Given the description of an element on the screen output the (x, y) to click on. 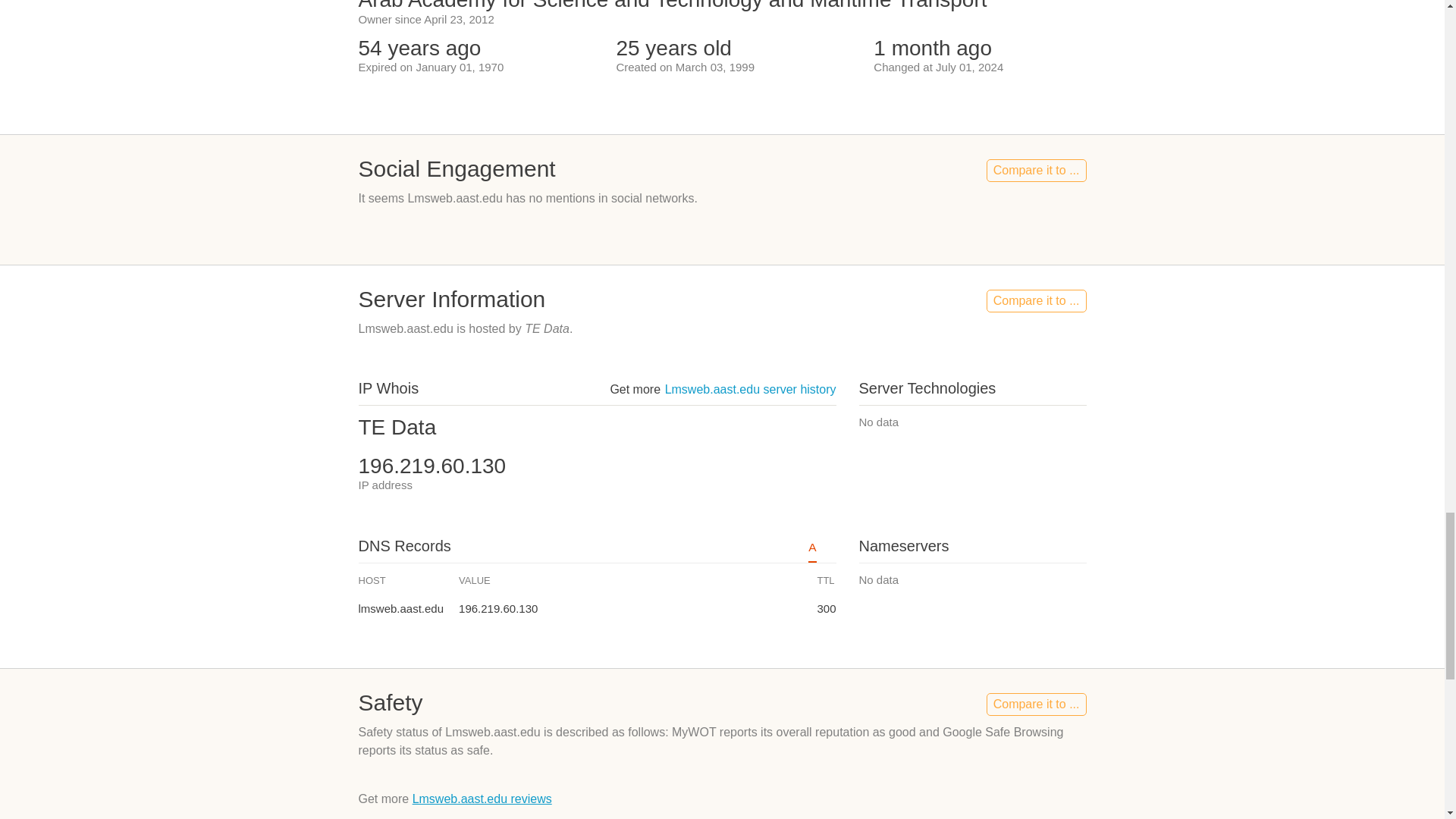
Lmsweb.aast.edu server history (750, 389)
Compare it to ... (1036, 169)
Compare it to ... (1036, 300)
